Given the description of an element on the screen output the (x, y) to click on. 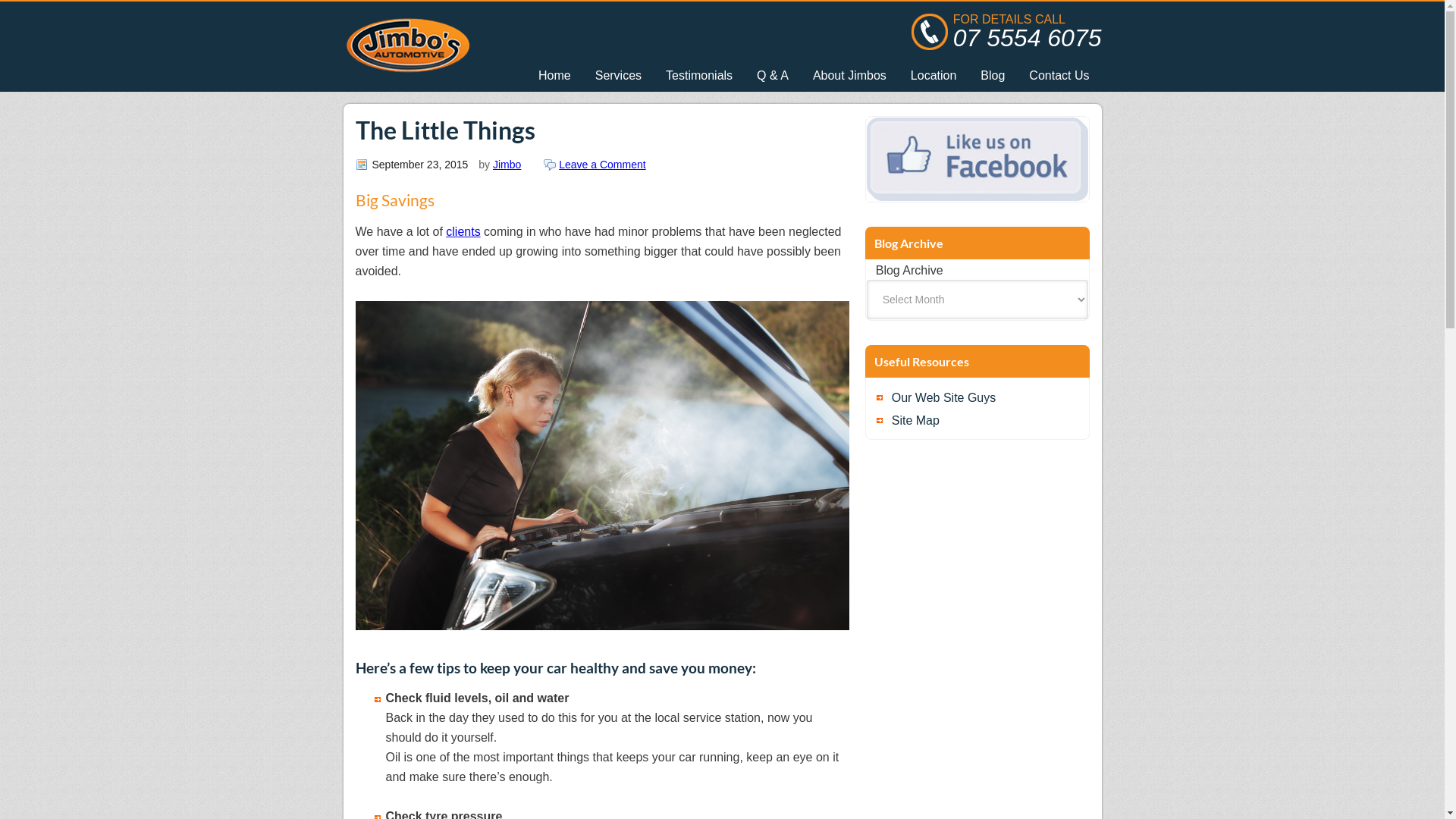
Our Web Site Guys Element type: text (977, 396)
Jimbo Element type: text (506, 164)
Testimonials Element type: text (698, 75)
Q & A Element type: text (772, 75)
Home Element type: text (554, 75)
clients Element type: text (462, 231)
Blog Element type: text (992, 75)
About Jimbos Element type: text (849, 75)
Leave a Comment Element type: text (594, 164)
Services Element type: text (618, 75)
Location Element type: text (933, 75)
Site Map Element type: text (977, 420)
Contact Us Element type: text (1058, 75)
